Given the description of an element on the screen output the (x, y) to click on. 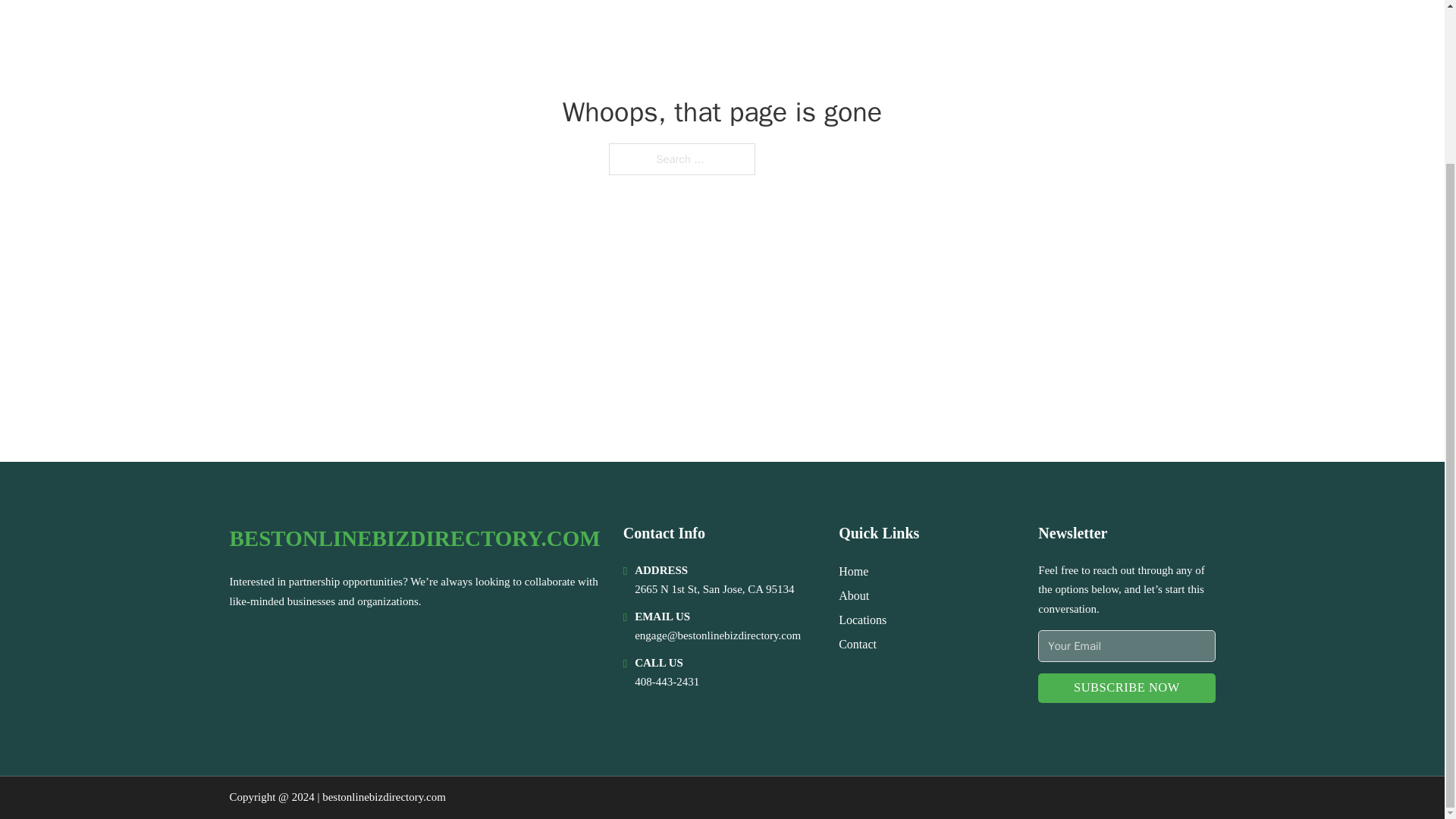
Home (852, 571)
About (853, 595)
Locations (862, 619)
BESTONLINEBIZDIRECTORY.COM (413, 538)
SUBSCRIBE NOW (1126, 687)
408-443-2431 (666, 681)
Contact (857, 643)
